Given the description of an element on the screen output the (x, y) to click on. 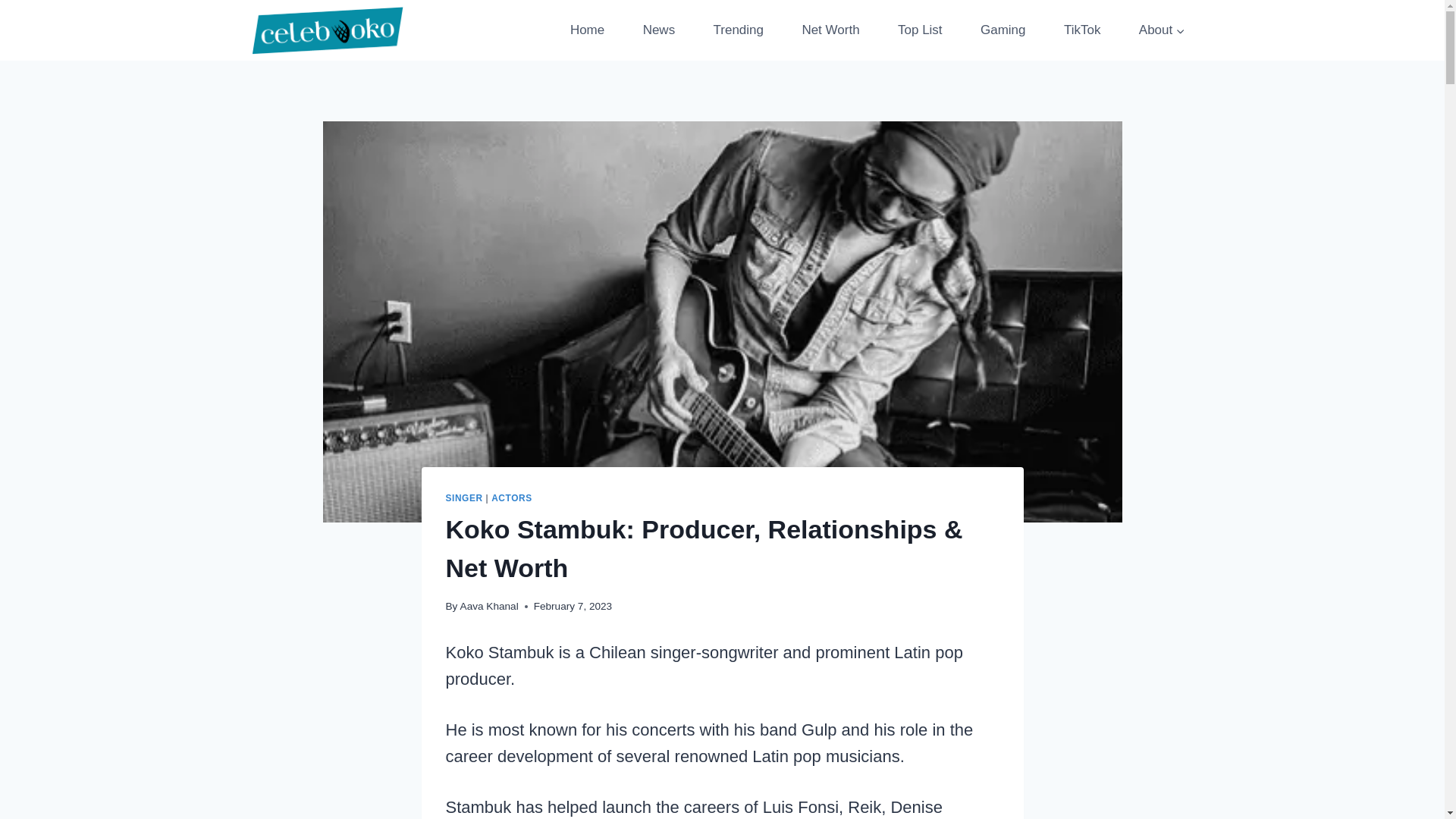
SINGER (464, 498)
Home (587, 30)
Gaming (1002, 30)
TikTok (1082, 30)
Aava Khanal (489, 605)
Net Worth (830, 30)
ACTORS (512, 498)
Top List (919, 30)
About (1162, 30)
Trending (737, 30)
News (658, 30)
